Given the description of an element on the screen output the (x, y) to click on. 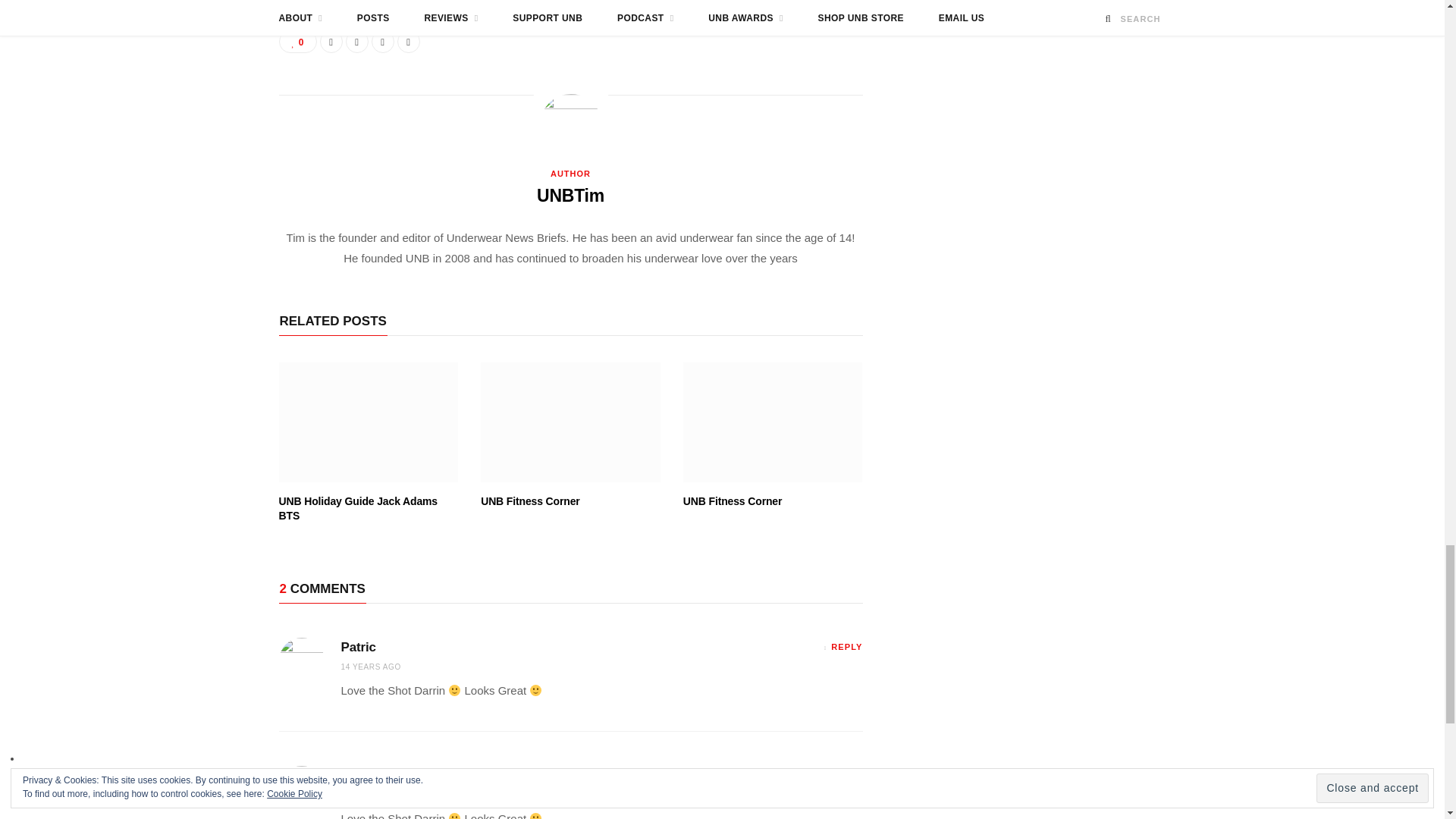
Share on Facebook (331, 41)
UNB Fitness Corner (772, 422)
Pinterest (382, 41)
Share on Twitter (357, 41)
Posts by UNBTim (570, 195)
UNB Fitness Corner (570, 422)
UNB Holiday Guide Jack Adams BTS (368, 422)
Email (408, 41)
